Given the description of an element on the screen output the (x, y) to click on. 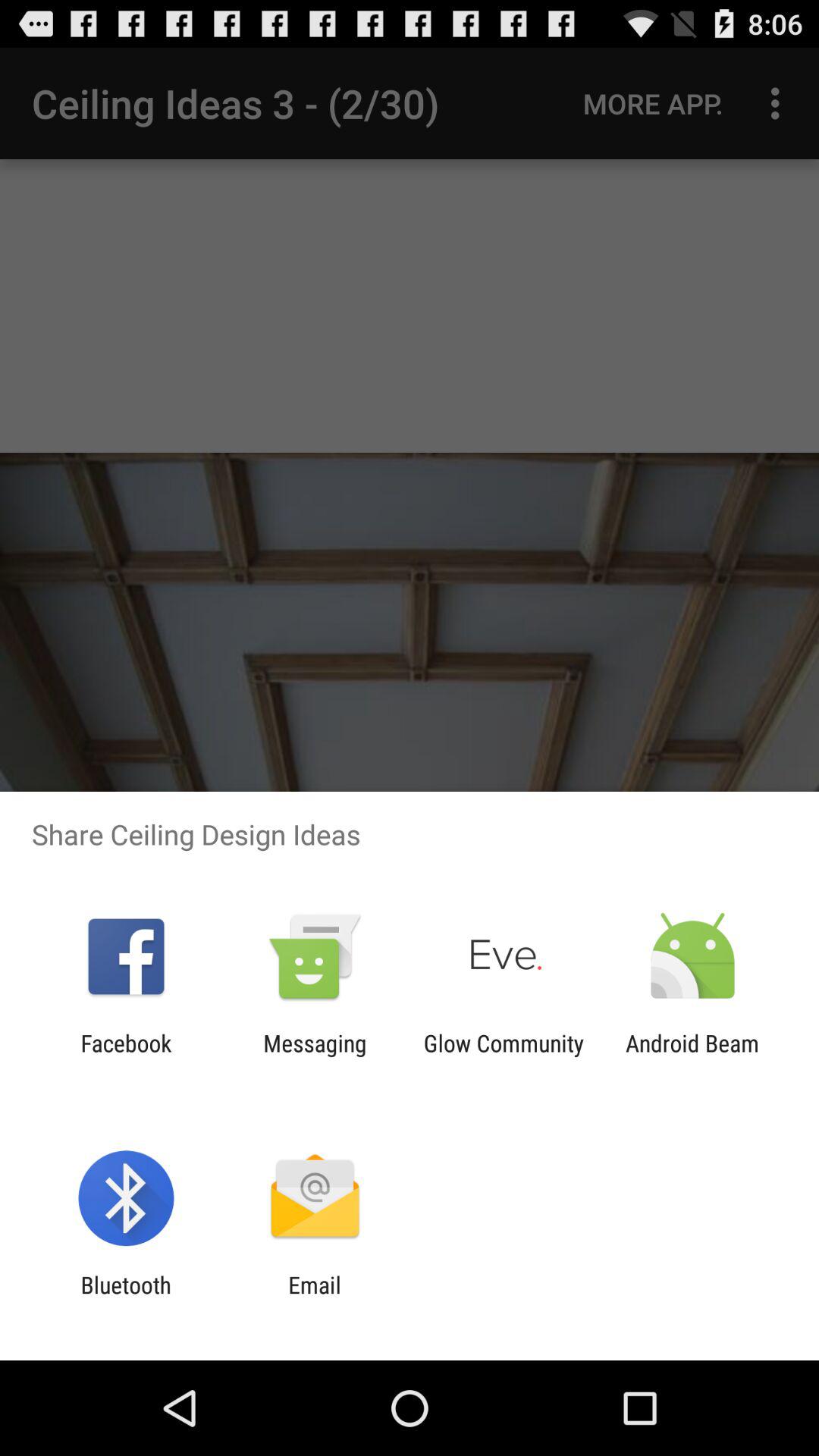
tap item to the right of bluetooth icon (314, 1298)
